Given the description of an element on the screen output the (x, y) to click on. 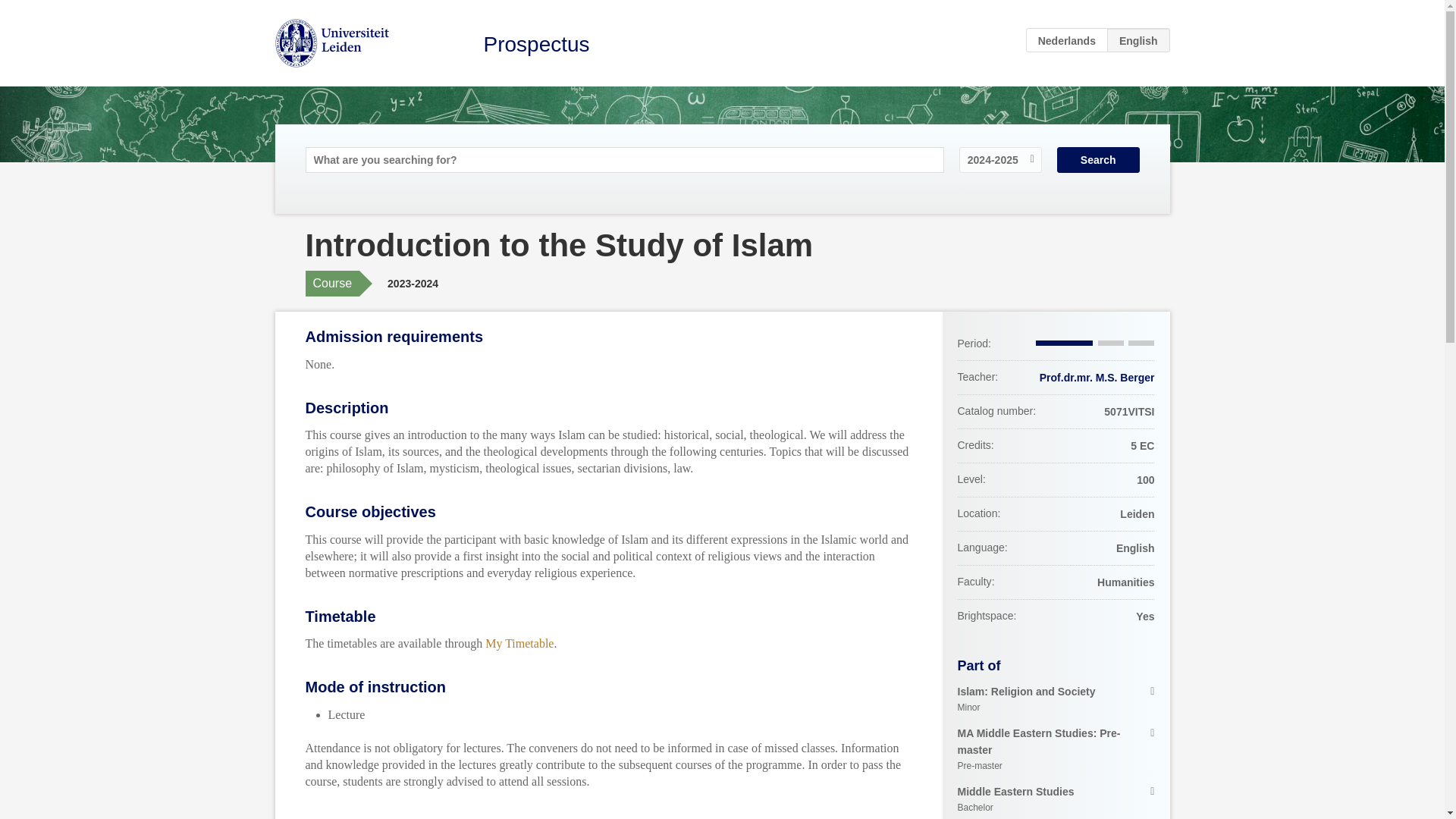
Search (1055, 799)
Prof.dr.mr. M.S. Berger (1098, 159)
Prospectus (1096, 377)
My Timetable (1055, 749)
NL (536, 44)
